Given the description of an element on the screen output the (x, y) to click on. 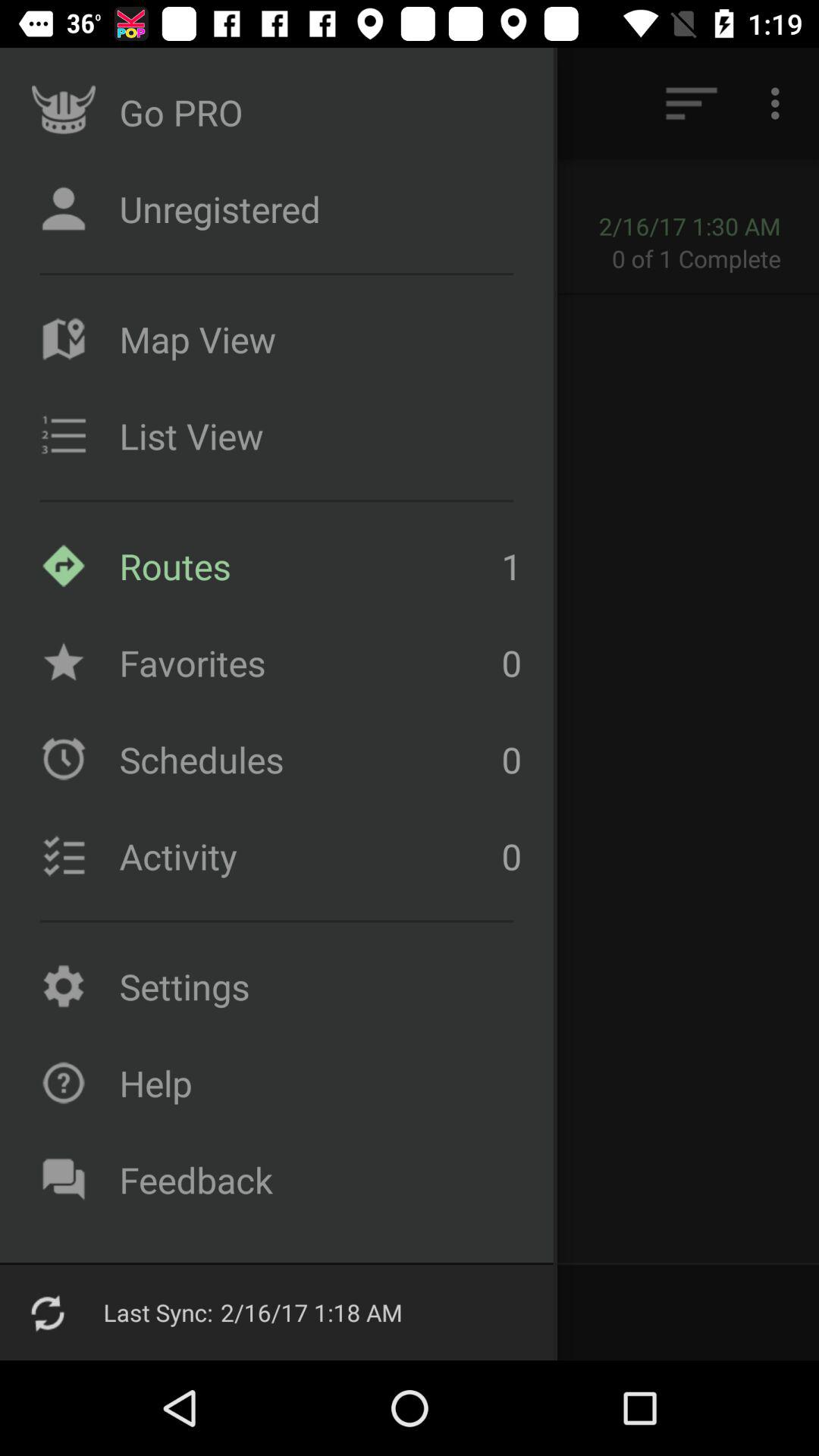
click item below the schedules (306, 855)
